Given the description of an element on the screen output the (x, y) to click on. 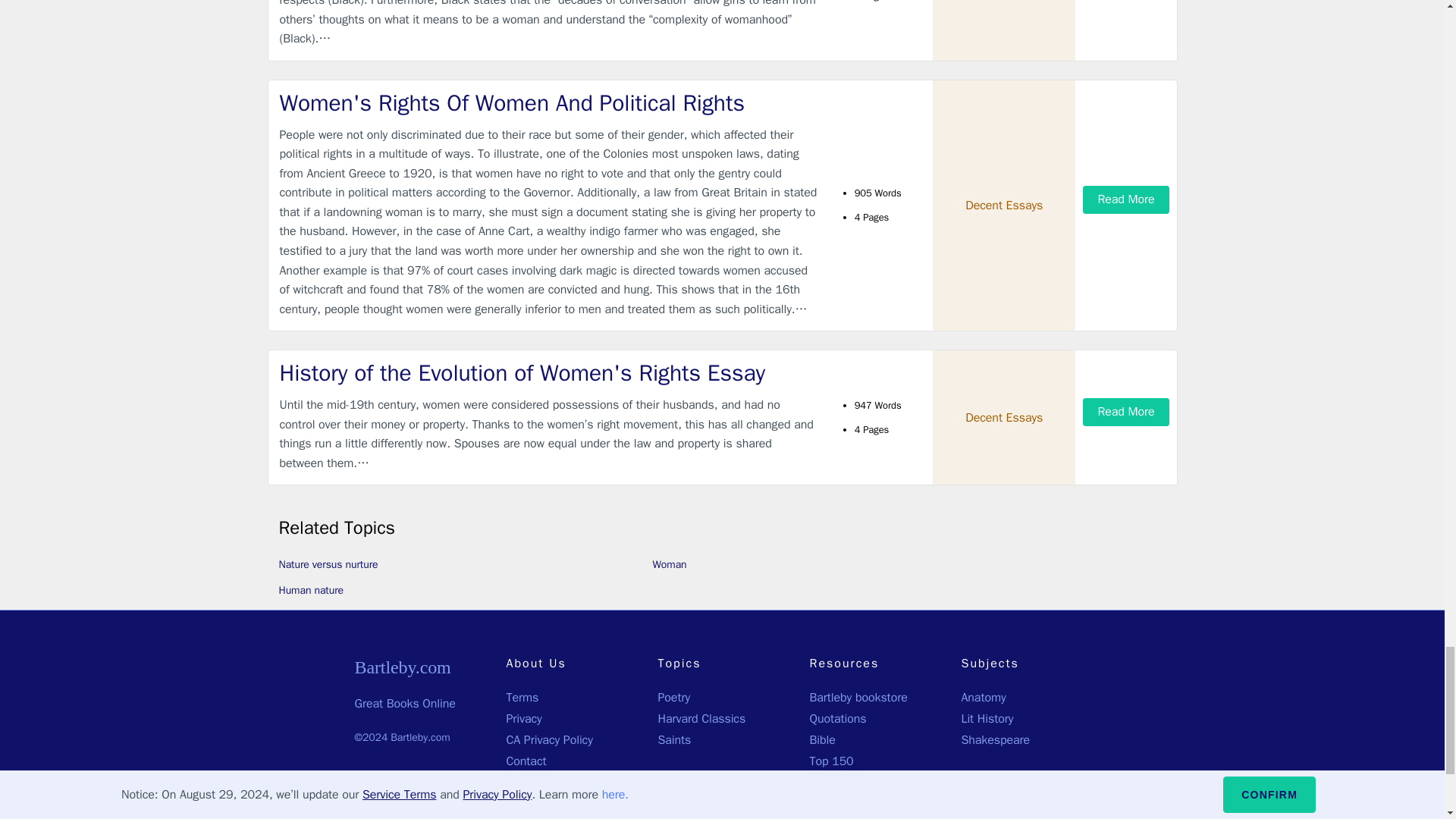
Nature versus nurture (328, 563)
Woman (668, 563)
Human nature (311, 590)
